Given the description of an element on the screen output the (x, y) to click on. 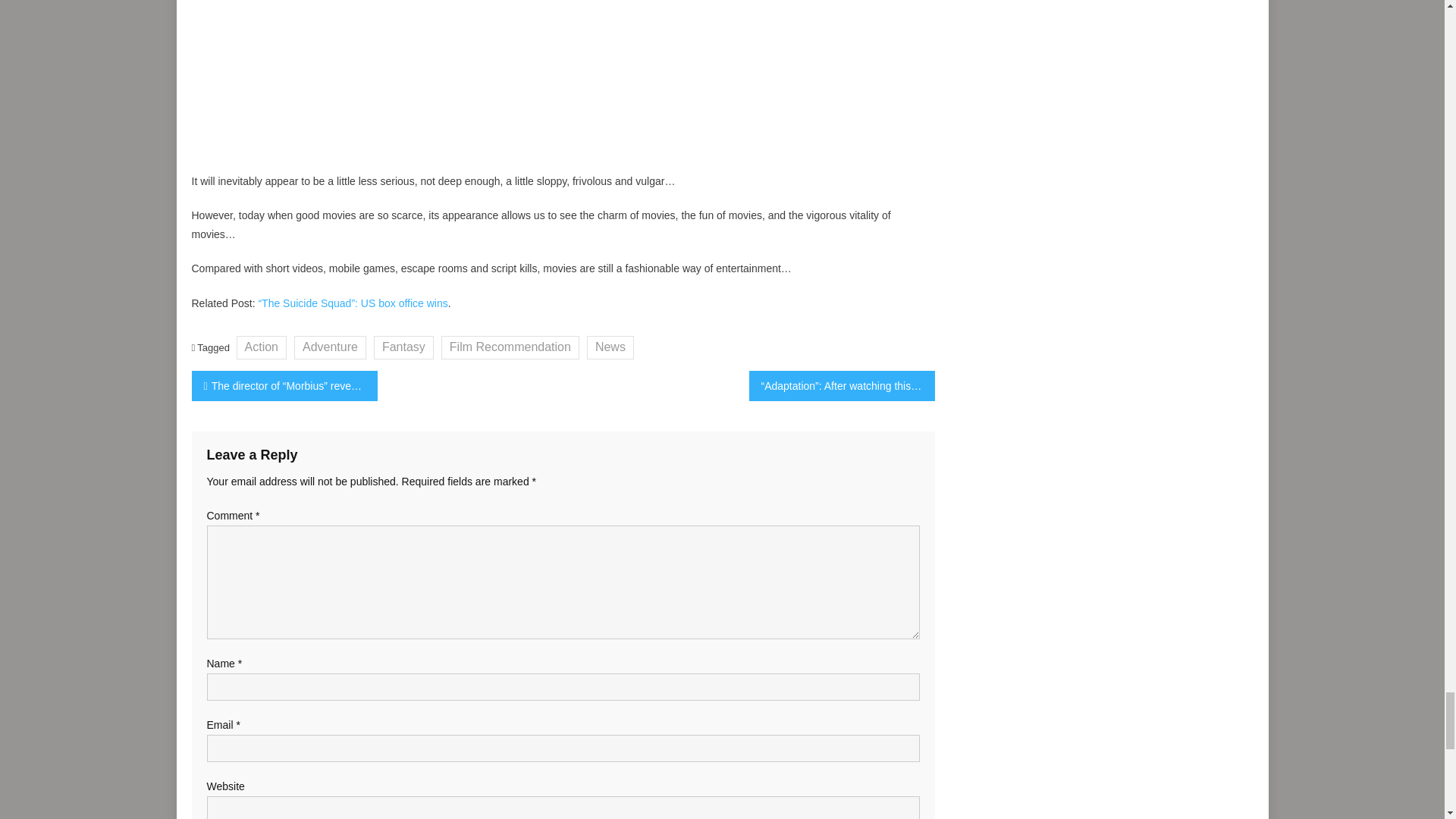
News (609, 347)
Action (260, 347)
Film Recommendation (510, 347)
Fantasy (403, 347)
Adventure (330, 347)
